Given the description of an element on the screen output the (x, y) to click on. 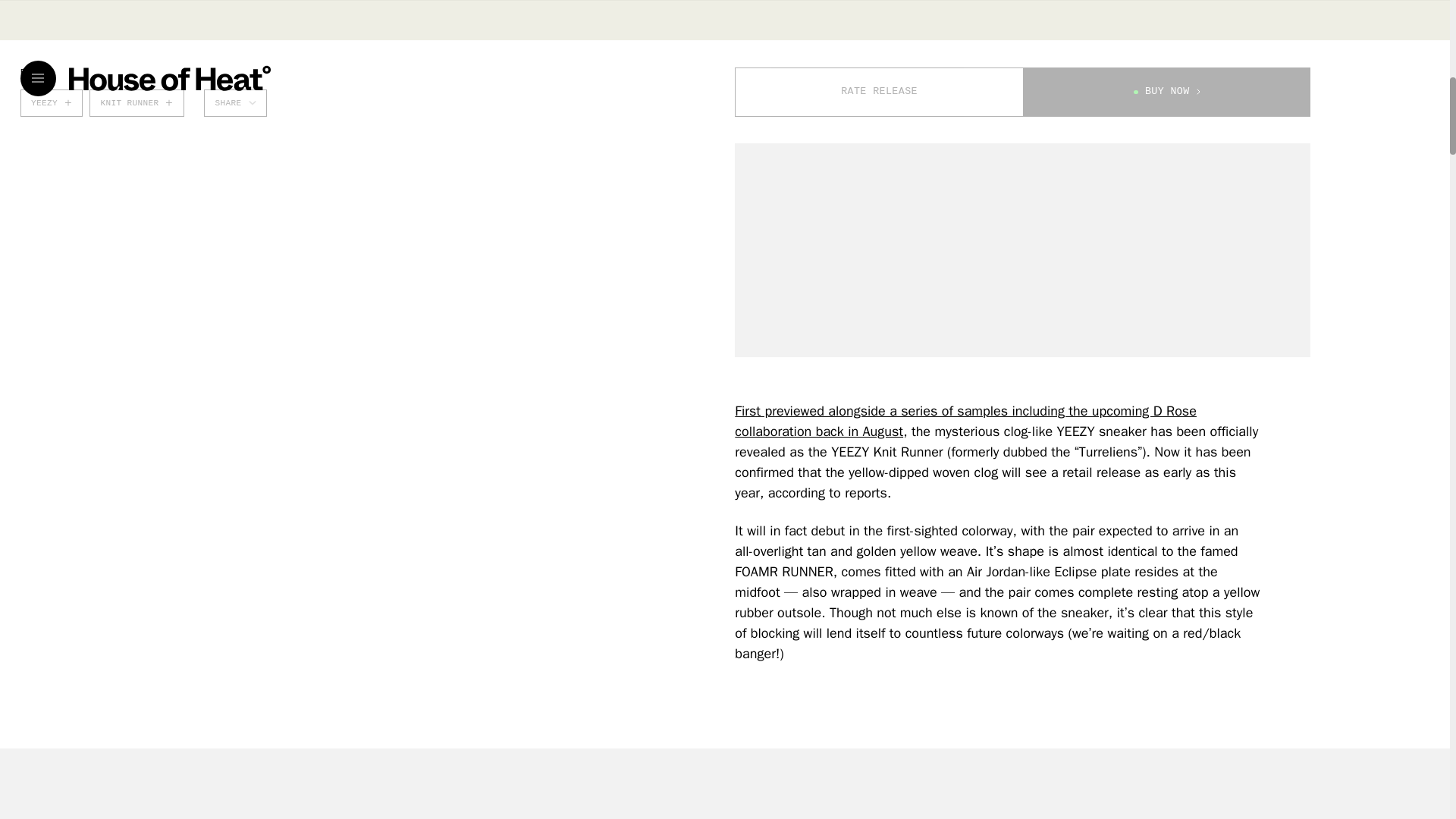
BUY NOW (1166, 92)
KNIT RUNNER (136, 103)
YEEZY (51, 103)
RATE RELEASE (879, 92)
SHARE (234, 103)
